Given the description of an element on the screen output the (x, y) to click on. 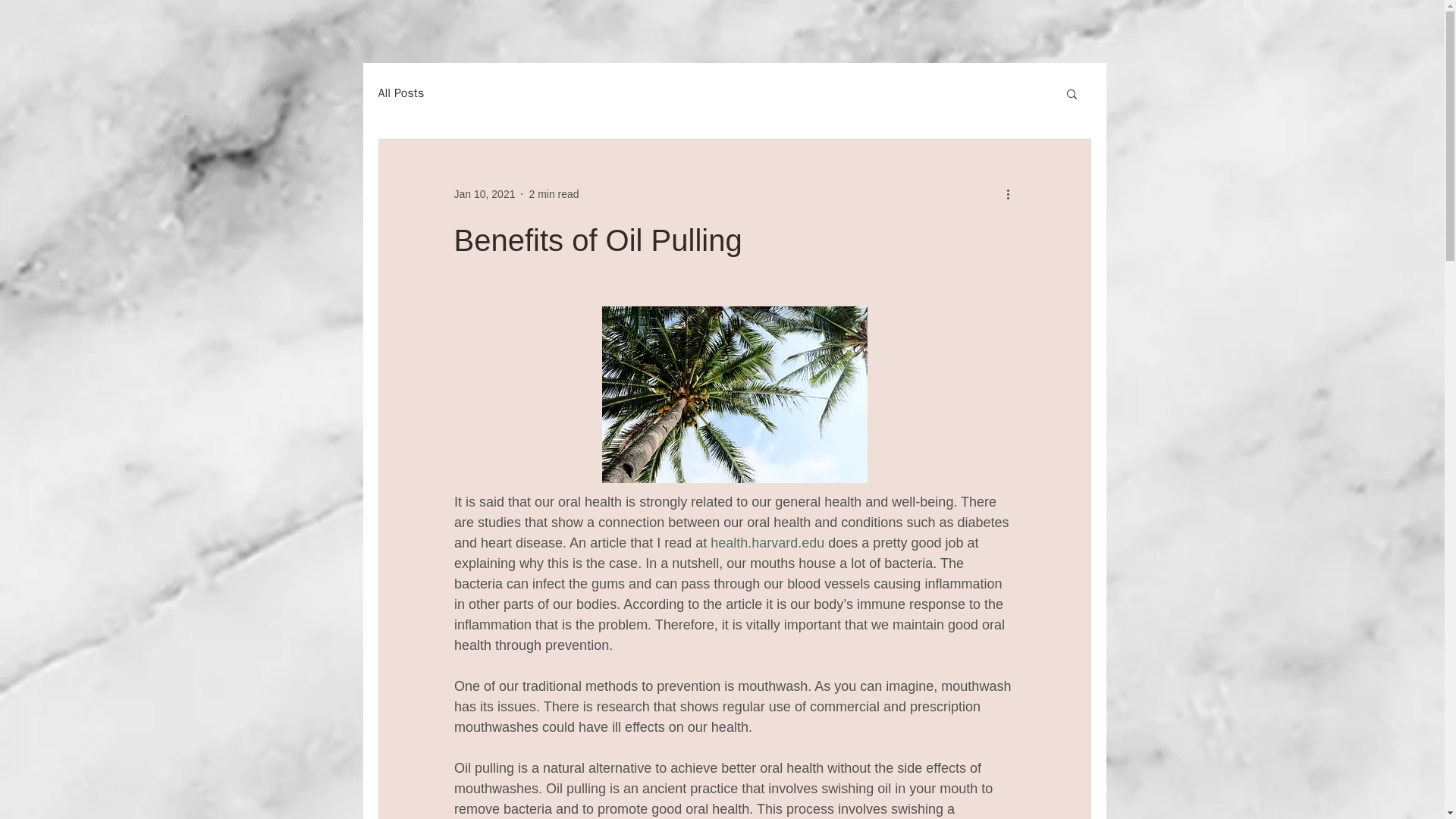
health.harvard.edu (767, 542)
2 min read (553, 193)
Jan 10, 2021 (483, 193)
All Posts (400, 92)
